Given the description of an element on the screen output the (x, y) to click on. 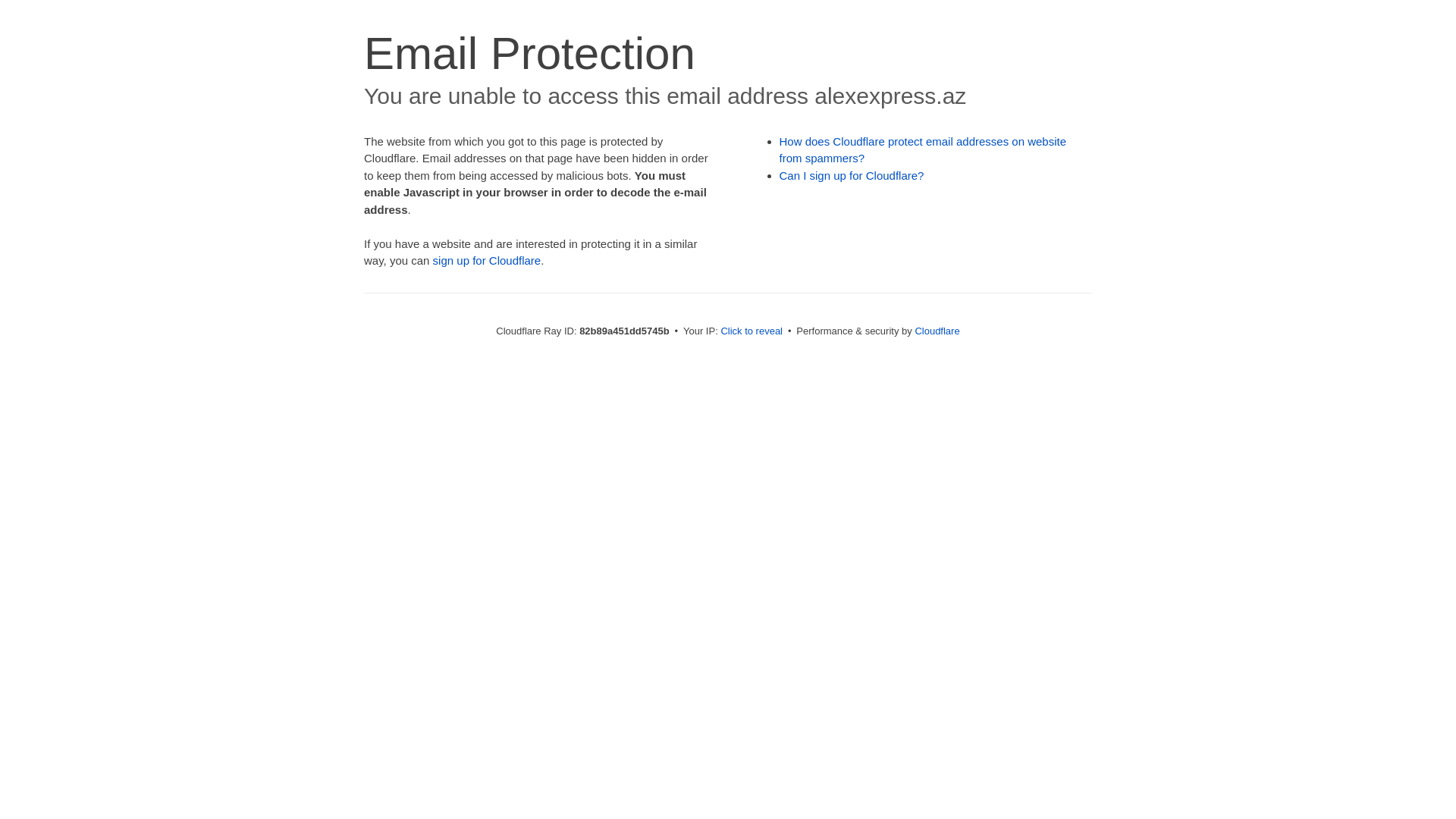
Click to reveal Element type: text (751, 330)
Cloudflare Element type: text (936, 330)
sign up for Cloudflare Element type: text (487, 260)
Can I sign up for Cloudflare? Element type: text (851, 175)
